Given the description of an element on the screen output the (x, y) to click on. 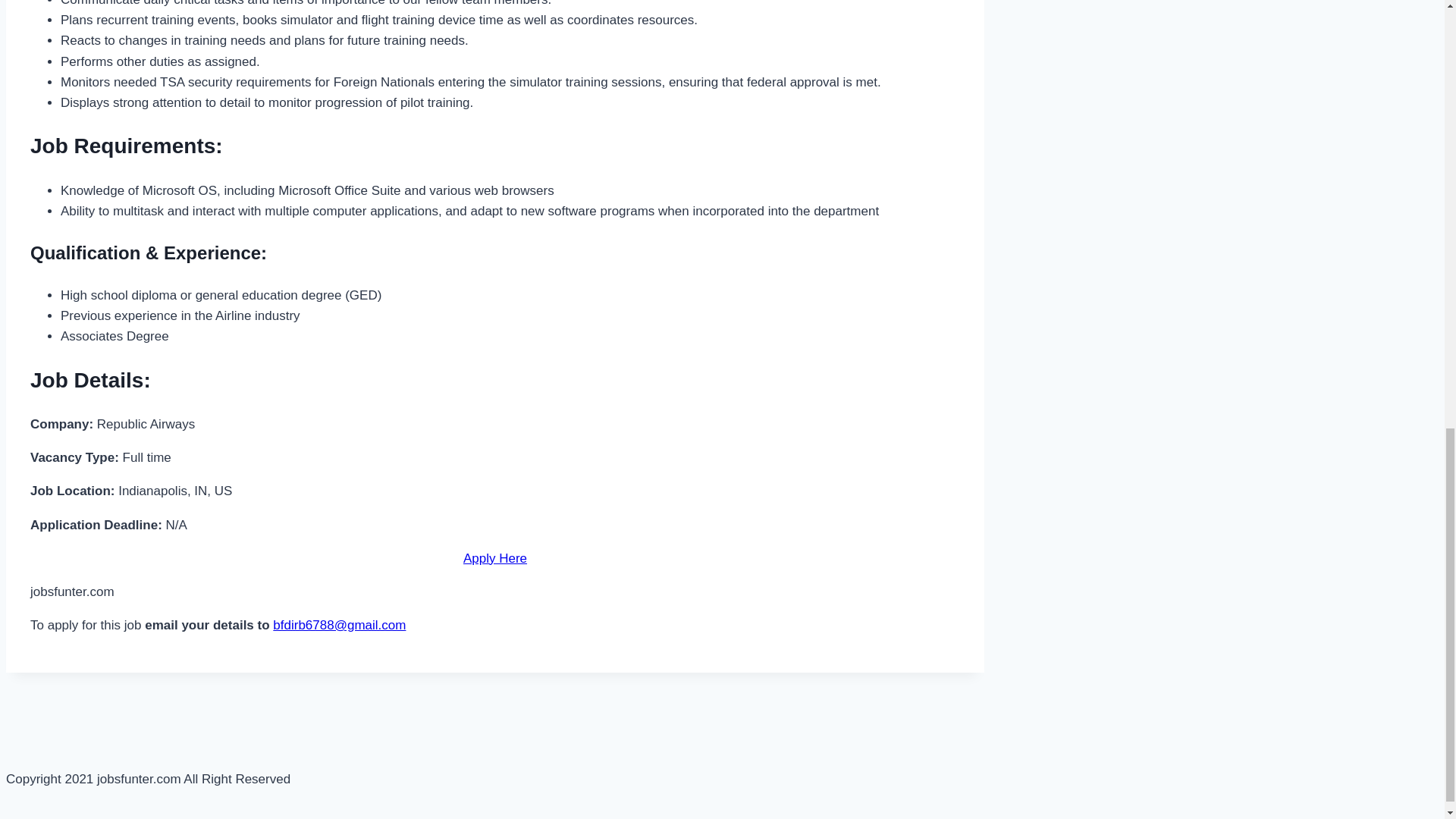
Apply Here (495, 558)
